Given the description of an element on the screen output the (x, y) to click on. 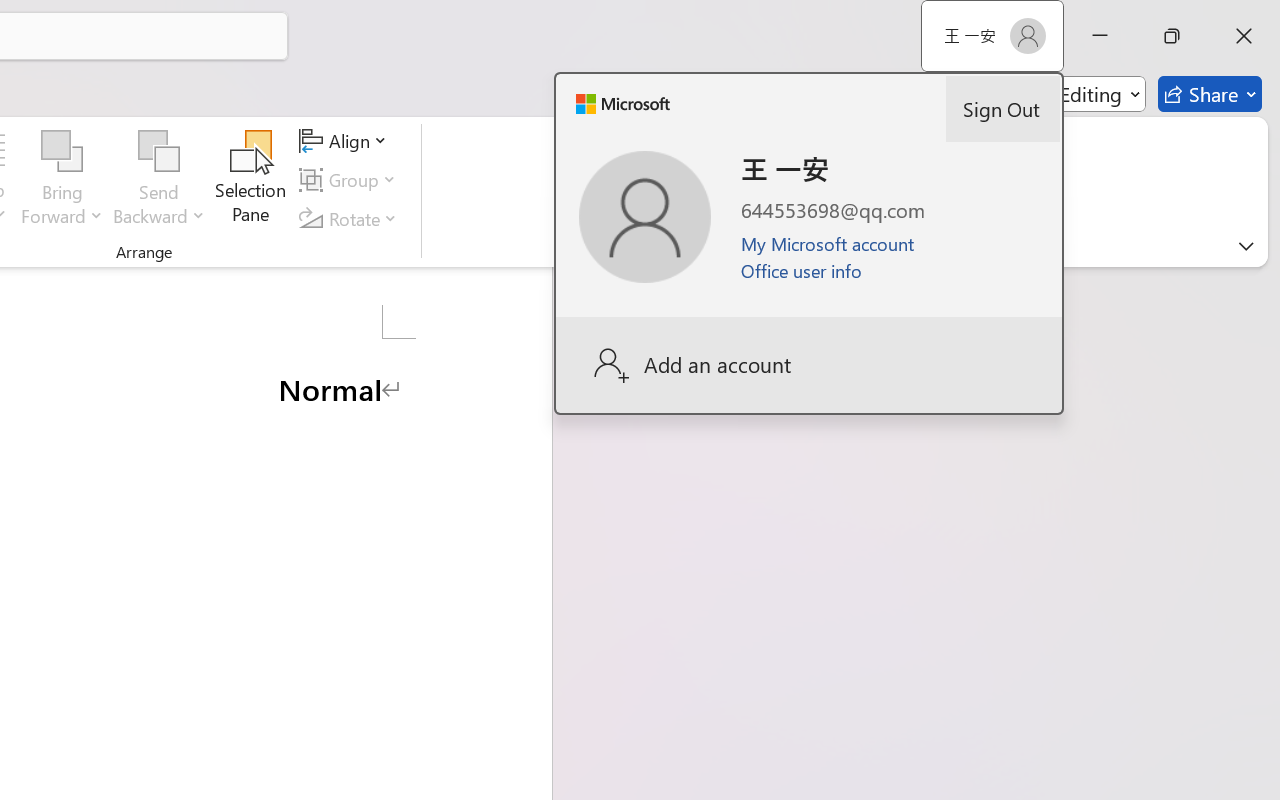
Send Backward (159, 179)
